Given the description of an element on the screen output the (x, y) to click on. 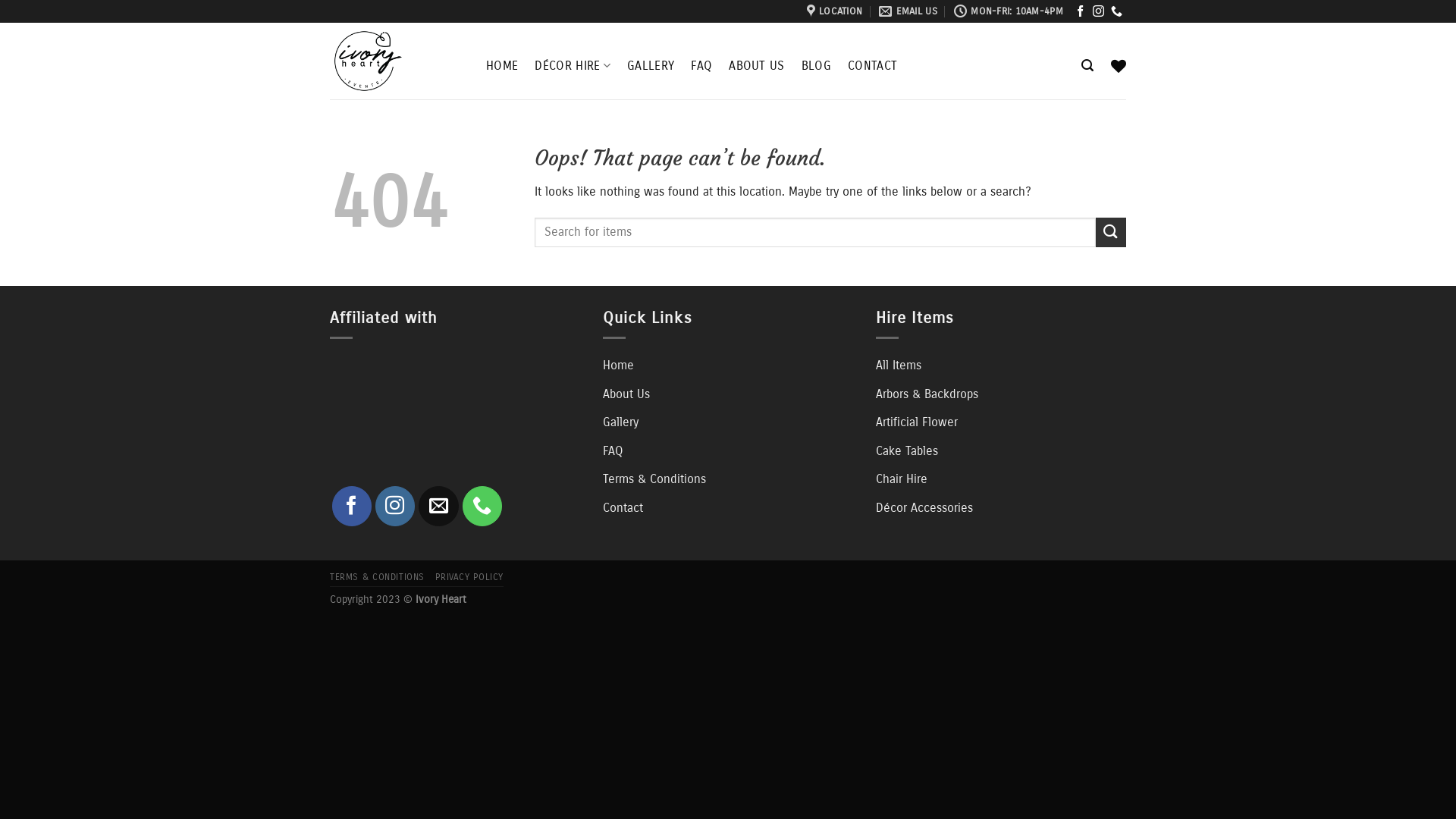
PRIVACY POLICY Element type: text (469, 576)
FAQ Element type: text (701, 65)
Chair Hire Element type: text (901, 478)
LOCATION Element type: text (834, 11)
MON-FRI: 10AM-4PM Element type: text (1008, 11)
Arbors & Backdrops Element type: text (926, 393)
CONTACT Element type: text (872, 65)
Artificial Flower Element type: text (916, 421)
Wishlist Element type: hover (1118, 65)
Follow on Instagram Element type: hover (1098, 11)
FAQ Element type: text (612, 450)
EMAIL US Element type: text (907, 11)
Ivory Heart - Wedding Hire in Melbourne Element type: hover (396, 60)
Terms & Conditions Element type: text (654, 478)
ABOUT US Element type: text (756, 65)
About Us Element type: text (625, 393)
Follow on Facebook Element type: hover (351, 505)
Cake Tables Element type: text (906, 450)
All Items Element type: text (898, 365)
Call us Element type: hover (1116, 11)
GALLERY Element type: text (650, 65)
HOME Element type: text (501, 65)
Send us an email Element type: hover (438, 505)
Home Element type: text (617, 365)
BLOG Element type: text (816, 65)
Follow on Instagram Element type: hover (394, 505)
Gallery Element type: text (620, 421)
Call us Element type: hover (482, 505)
TERMS & CONDITIONS Element type: text (376, 576)
Contact Element type: text (622, 507)
Follow on Facebook Element type: hover (1079, 11)
